Given the description of an element on the screen output the (x, y) to click on. 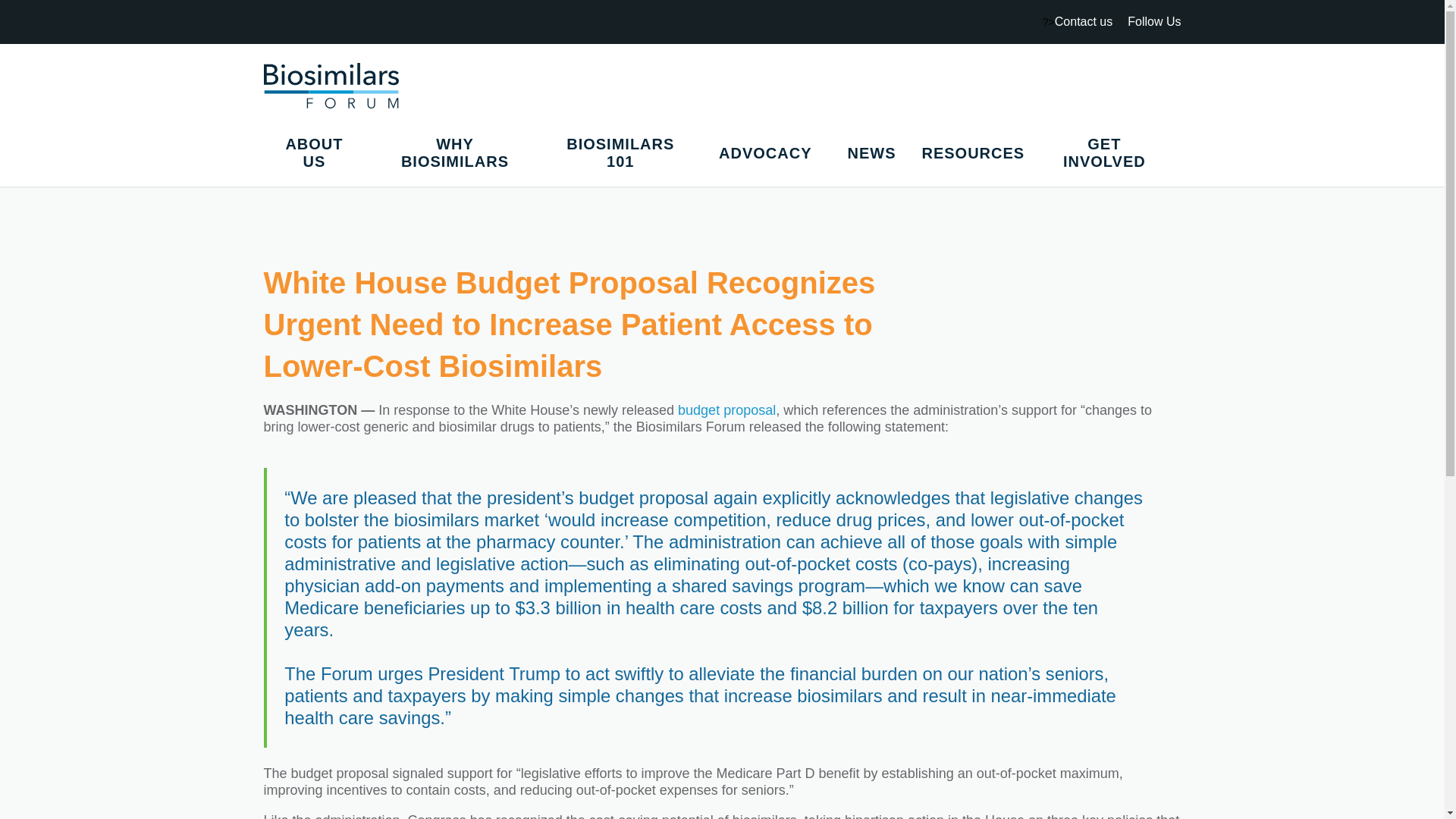
ADVOCACY (769, 152)
NEWS (870, 152)
GET INVOLVED (1108, 152)
About Us (318, 152)
BIOSIMILARS 101 (625, 152)
Why Biosimilars (458, 152)
budget proposal (727, 409)
RESOURCES (973, 152)
ABOUT US (318, 152)
Contact us (1083, 21)
